Given the description of an element on the screen output the (x, y) to click on. 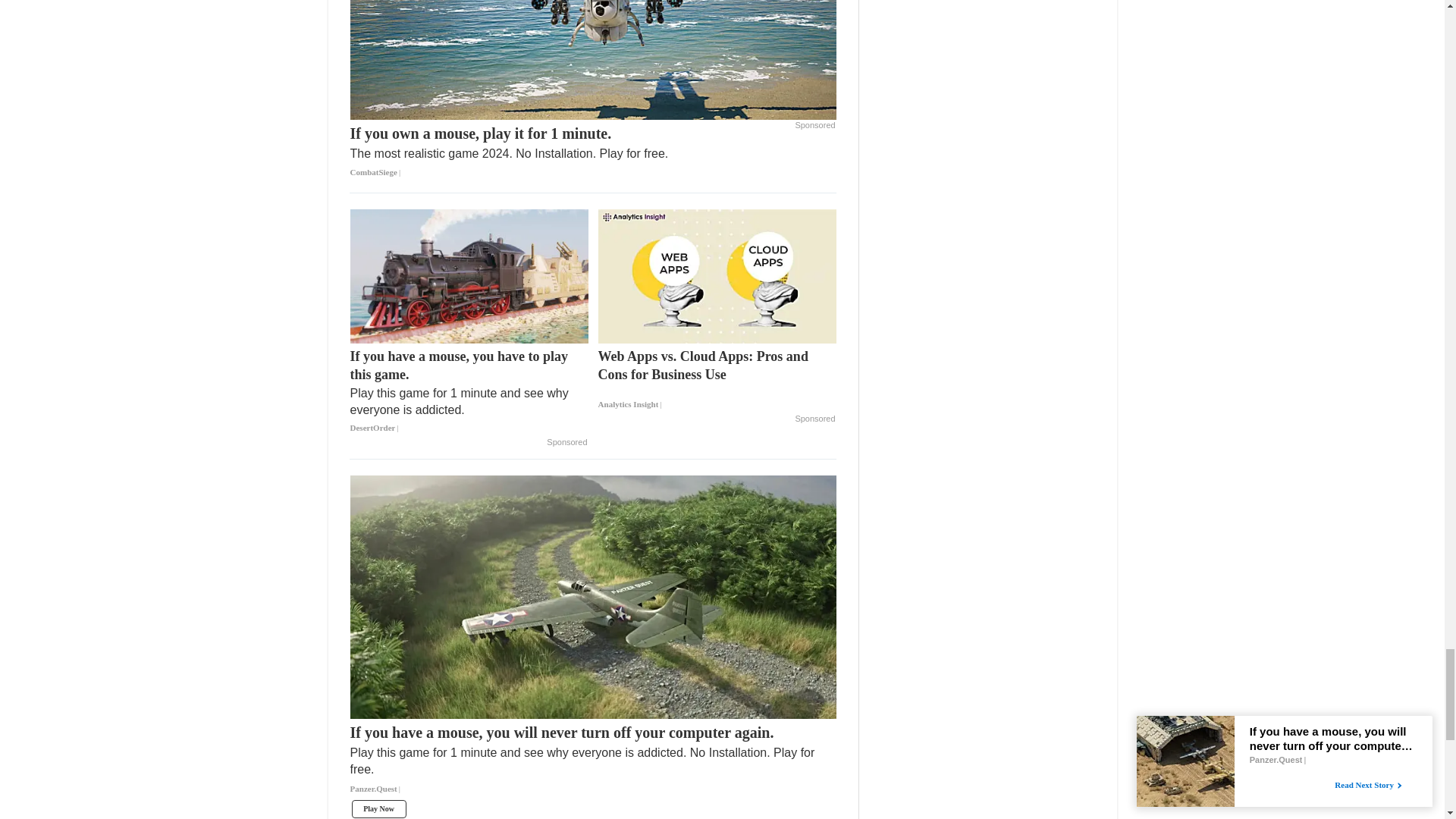
If you own a mouse, play it for 1 minute. (592, 88)
If you own a mouse, play it for 1 minute. (509, 150)
